Given the description of an element on the screen output the (x, y) to click on. 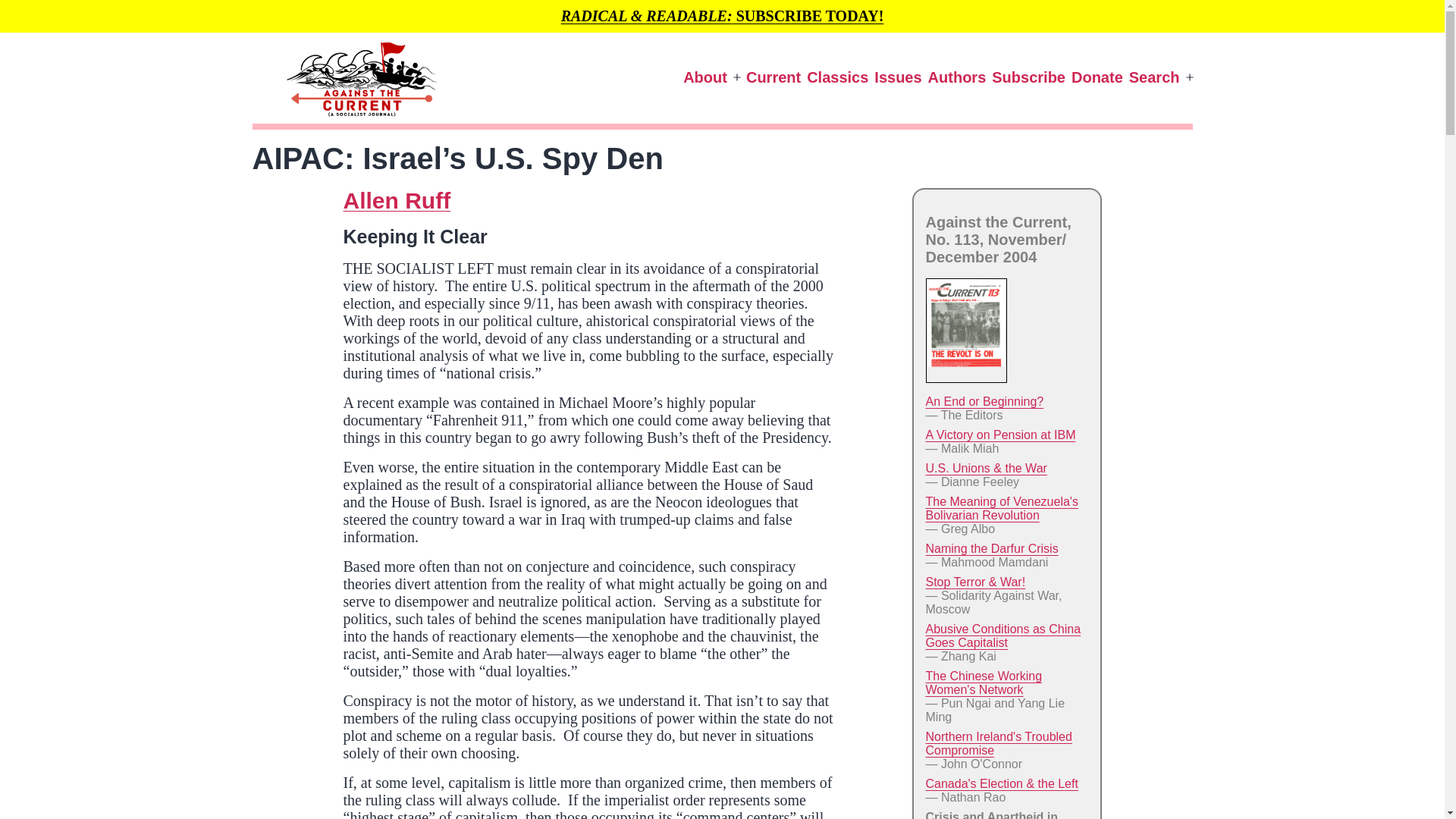
Subscribe (1028, 78)
Classics (836, 78)
Naming the Darfur Crisis (991, 548)
Authors (957, 78)
A Victory on Pension at IBM (999, 434)
The Meaning of Venezuela's Bolivarian Revolution (1000, 508)
Search (1153, 78)
About (704, 78)
Against the Current (274, 148)
Issues (897, 78)
